Given the description of an element on the screen output the (x, y) to click on. 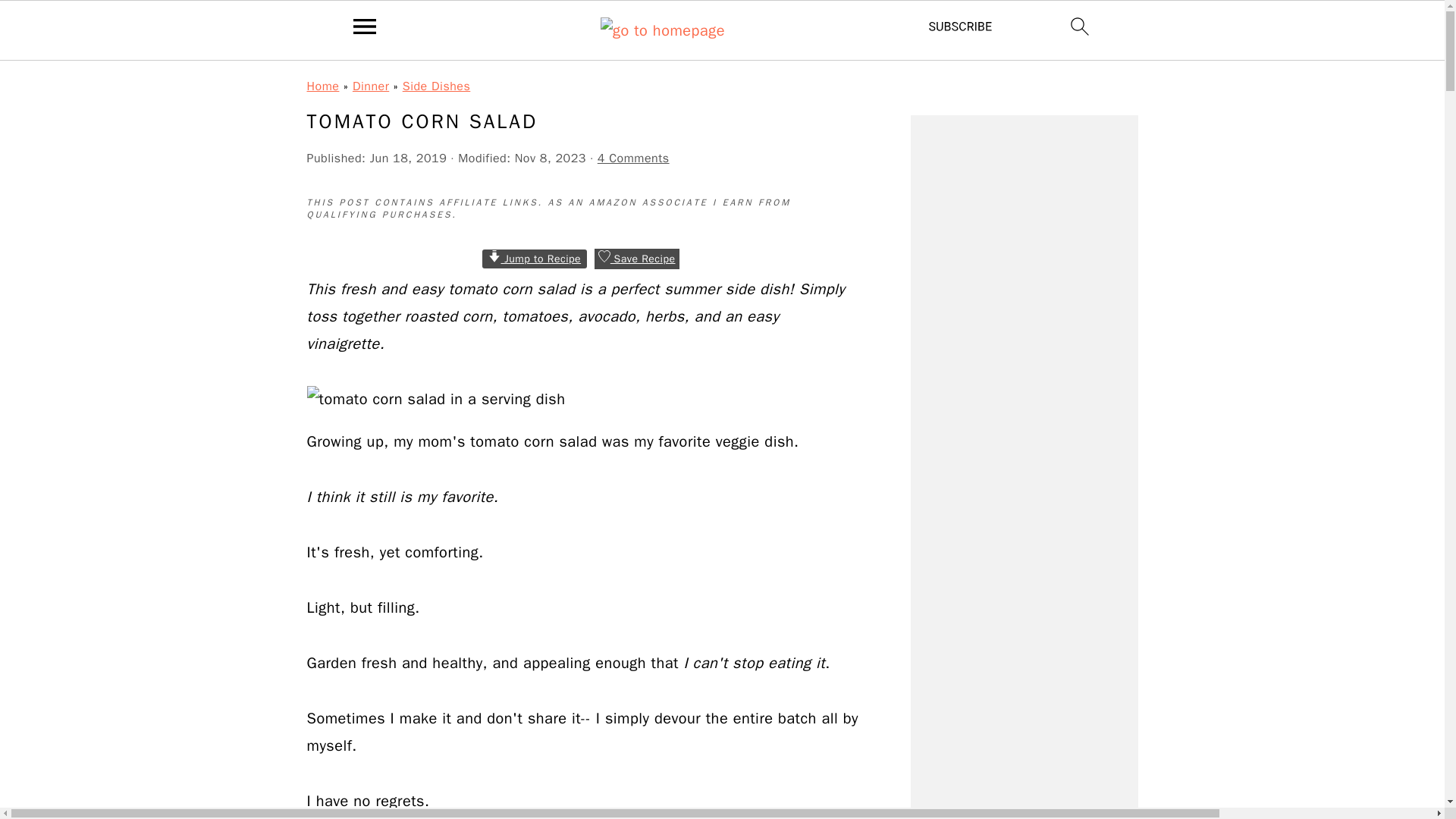
search icon (1080, 26)
menu icon (365, 26)
